Given the description of an element on the screen output the (x, y) to click on. 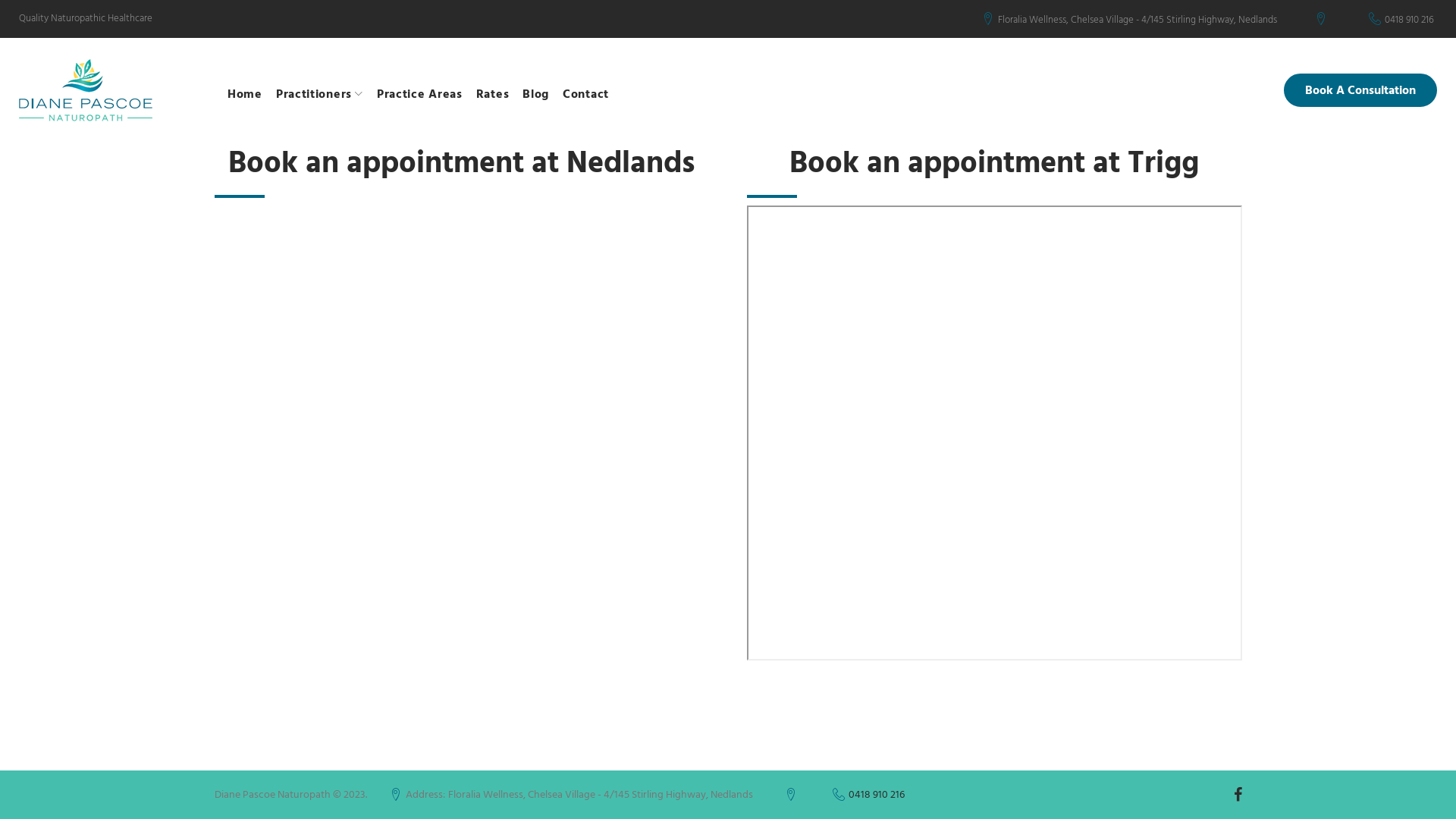
Practice Areas Element type: text (419, 93)
0418 910 216 Element type: text (1409, 20)
Practitioners Element type: text (319, 93)
Contact Element type: text (585, 93)
Facebook Element type: text (1237, 794)
Home Element type: text (244, 93)
Blog Element type: text (535, 93)
0418 910 216 Element type: text (875, 794)
Rates Element type: text (492, 93)
Book A Consultation Element type: text (1360, 89)
